Given the description of an element on the screen output the (x, y) to click on. 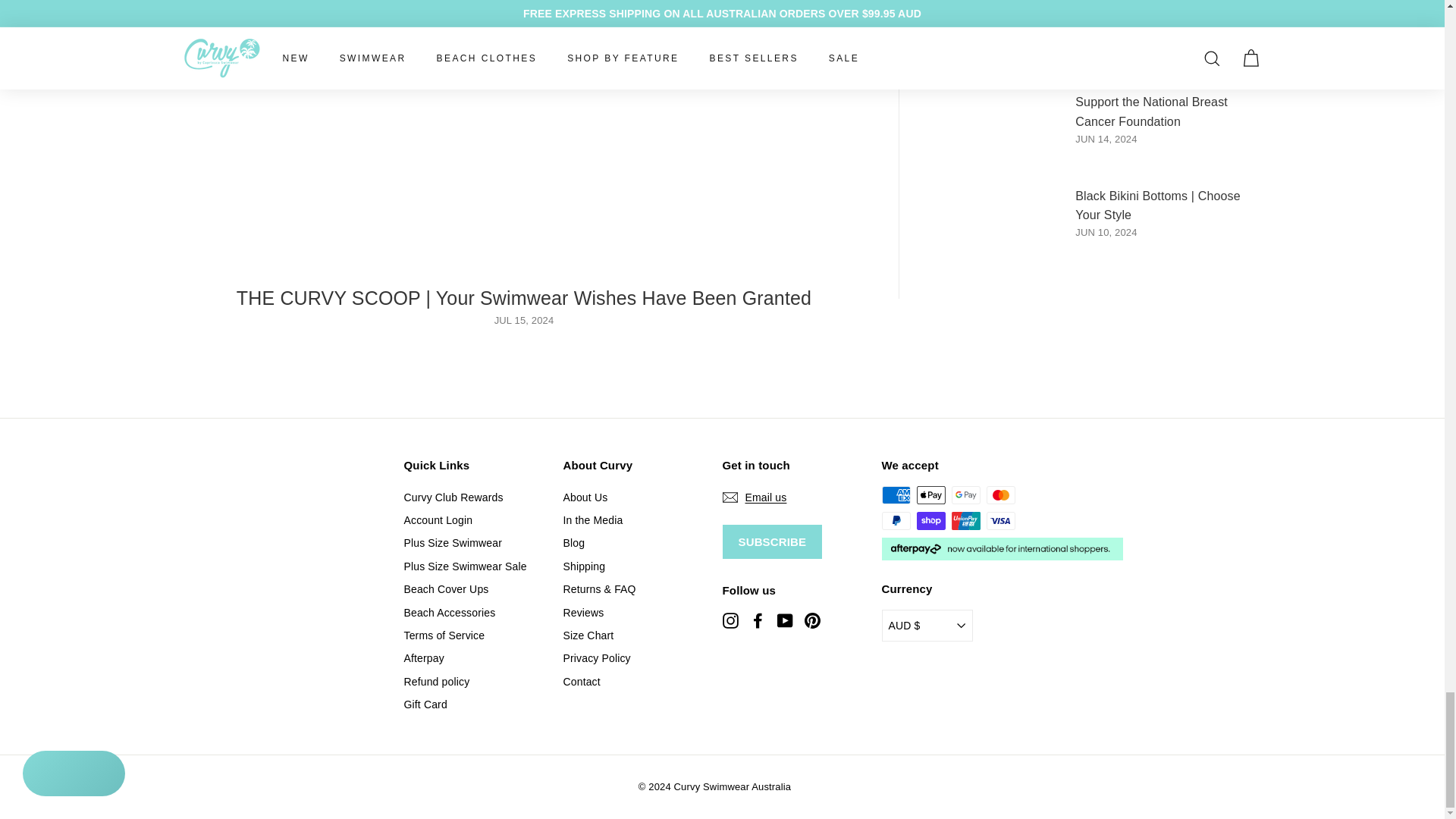
Curvy Swimwear Australia  on Facebook (757, 619)
Apple Pay (929, 495)
Curvy Swimwear Australia  on Pinterest (811, 619)
PayPal (895, 520)
Mastercard (999, 495)
American Express (895, 495)
Google Pay (964, 495)
Visa (999, 520)
Shop Pay (929, 520)
Curvy Swimwear Australia  on Instagram (730, 619)
Curvy Swimwear Australia  on YouTube (784, 619)
Union Pay (964, 520)
